Given the description of an element on the screen output the (x, y) to click on. 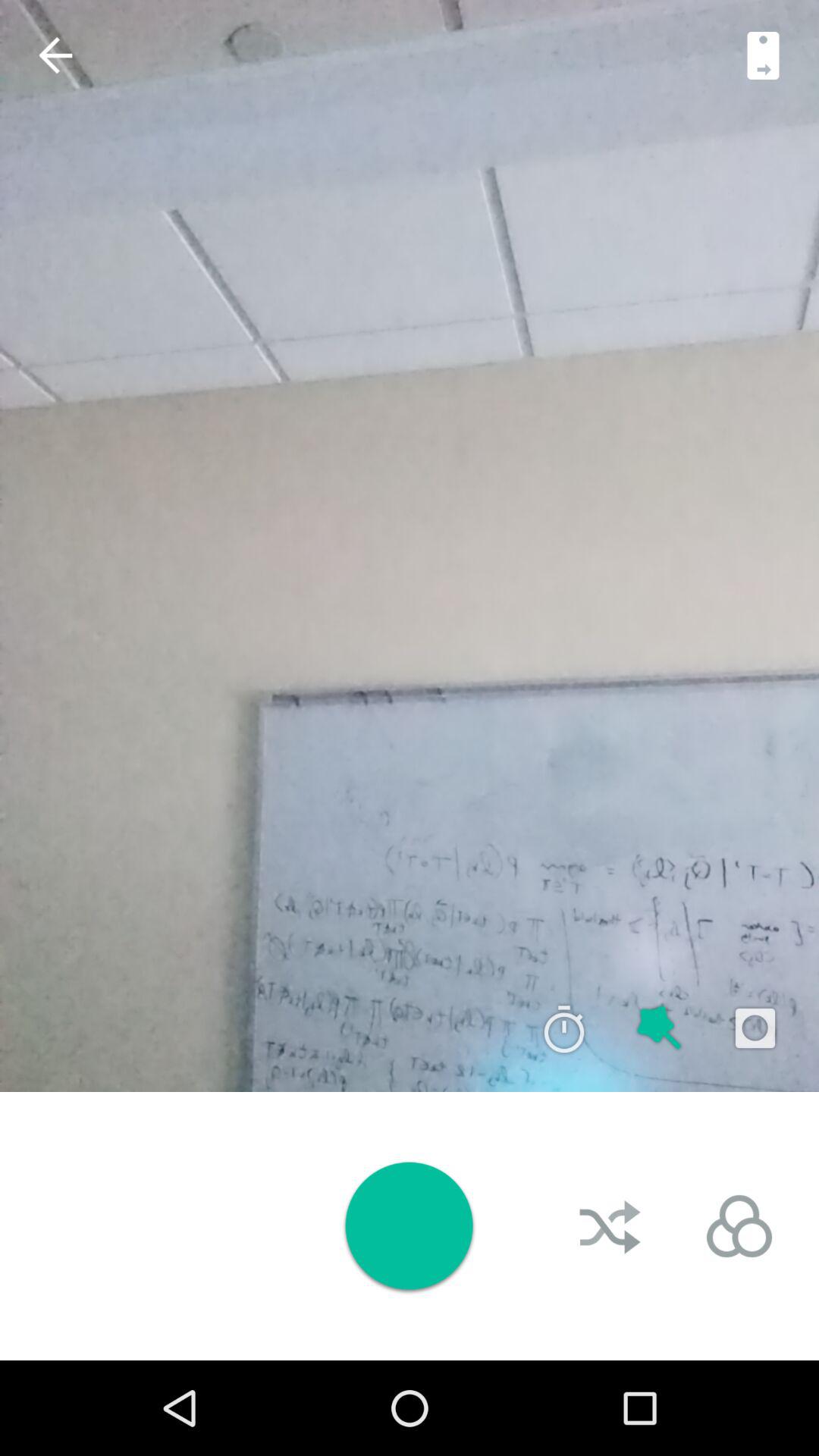
for play (408, 1225)
